Given the description of an element on the screen output the (x, y) to click on. 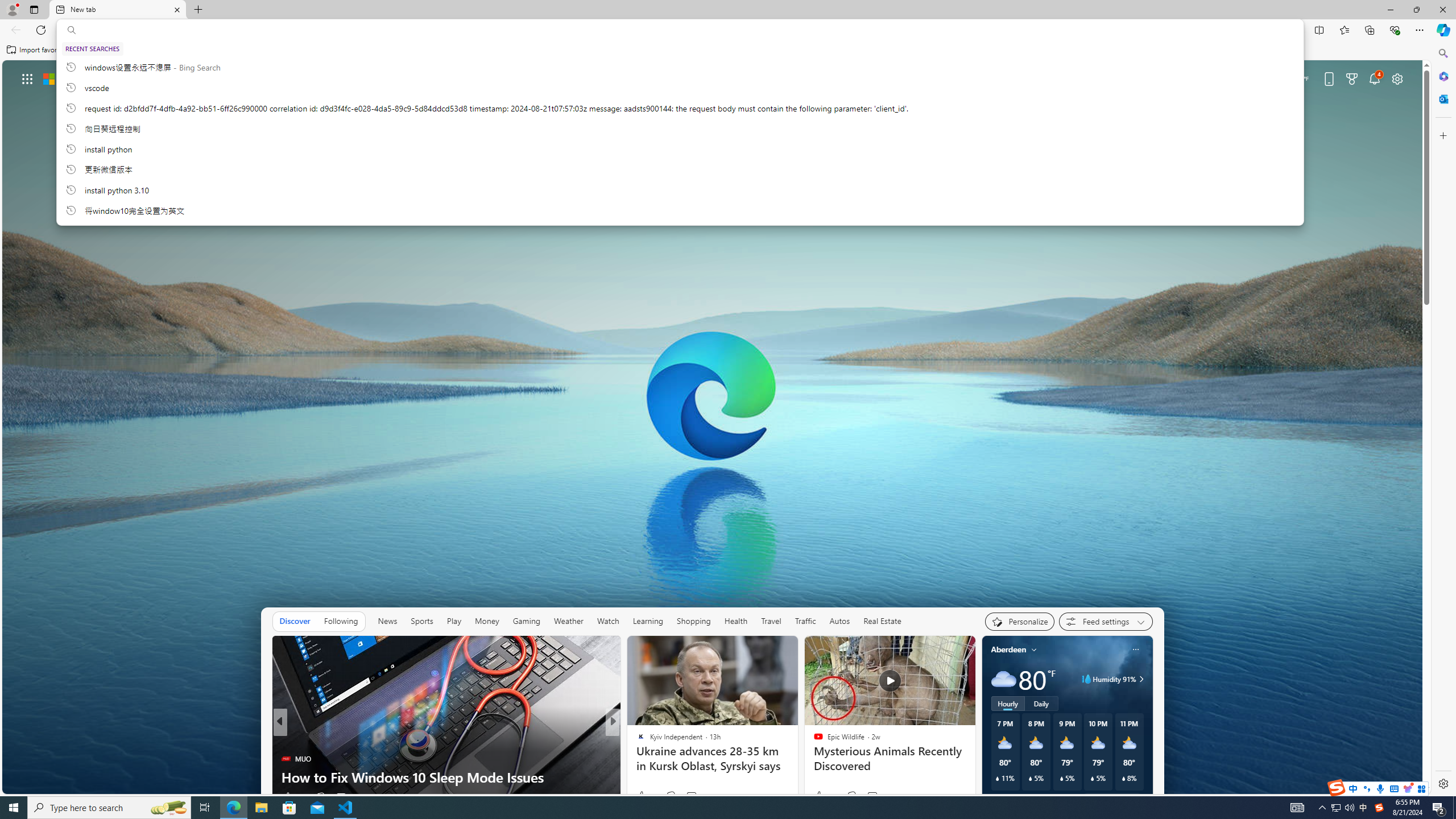
CNN (635, 740)
Add a site (906, 206)
Personalize your feed" (1019, 621)
View comments 1 Comment (694, 795)
App launcher (27, 78)
